Given the description of an element on the screen output the (x, y) to click on. 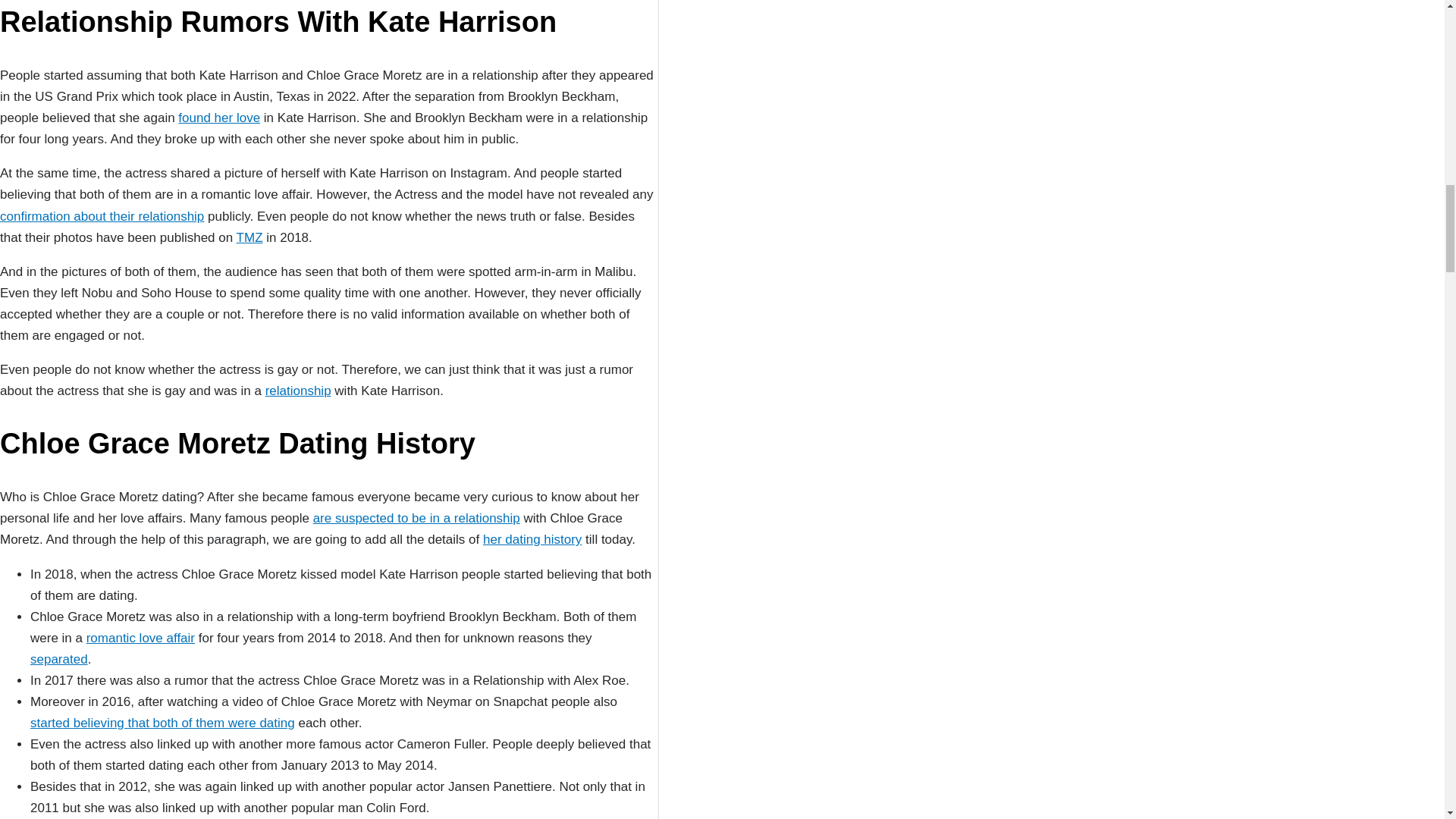
romantic love affair (140, 637)
TMZ (249, 237)
relationship (297, 391)
separated (58, 658)
confirmation about their relationship (101, 216)
her dating history (531, 539)
found her love (218, 117)
are suspected to be in a relationship (416, 518)
started believing that both of them were dating (162, 722)
